Given the description of an element on the screen output the (x, y) to click on. 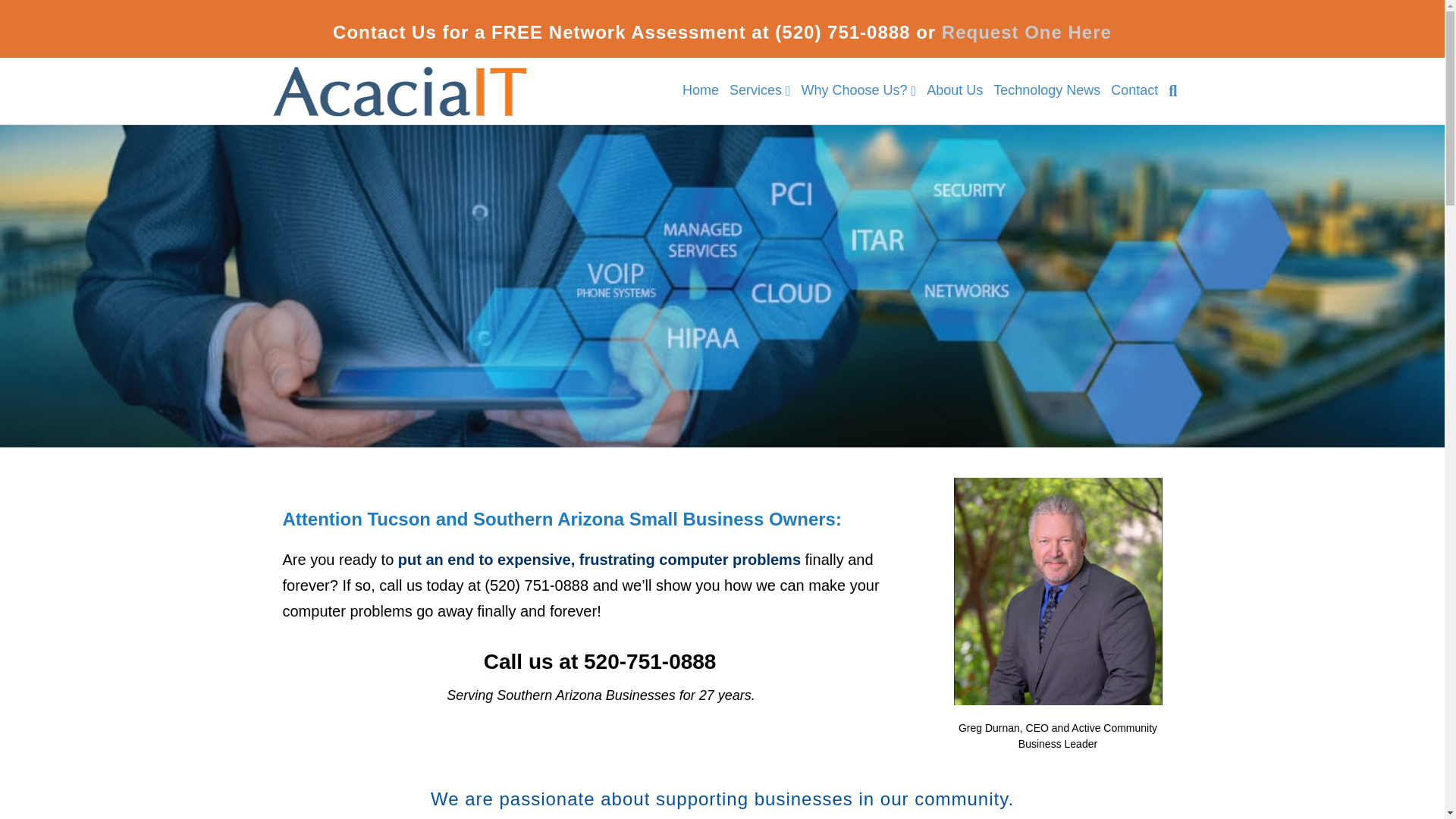
Request One Here (1027, 32)
About Us (954, 90)
Services (759, 90)
Why Choose Us? (858, 90)
Gregheadshot3 (1057, 591)
Technology News (1046, 90)
Home (700, 90)
Contact (1134, 90)
